Given the description of an element on the screen output the (x, y) to click on. 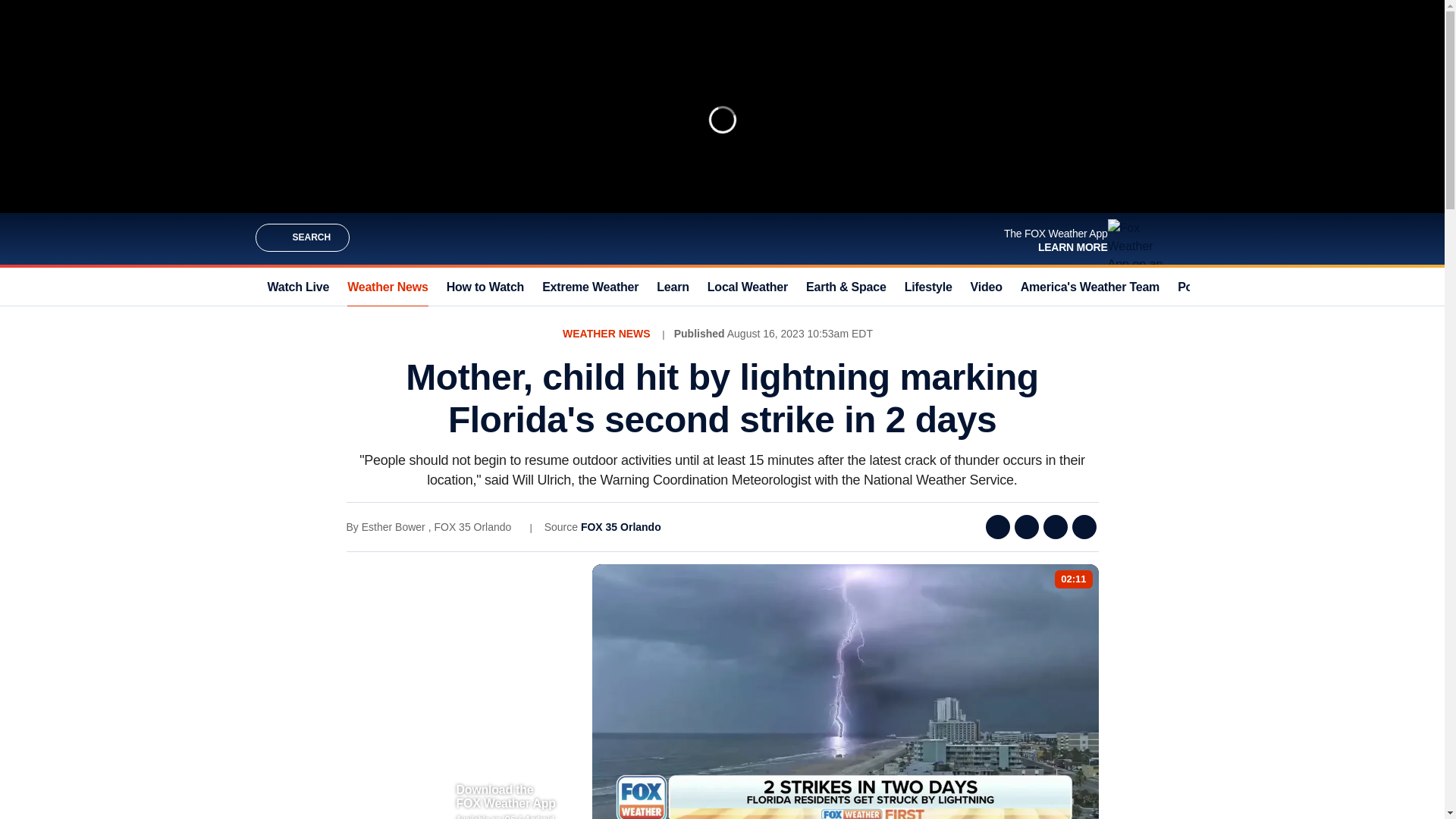
Podcast (1200, 286)
Facebook (997, 526)
Local Weather (747, 286)
America's Weather Team (1089, 286)
Weather News (387, 286)
Extreme Weather (590, 286)
Copy Link (1083, 526)
FOX 35 Orlando (620, 526)
Fox Weather (720, 238)
How to Watch (485, 286)
